Given the description of an element on the screen output the (x, y) to click on. 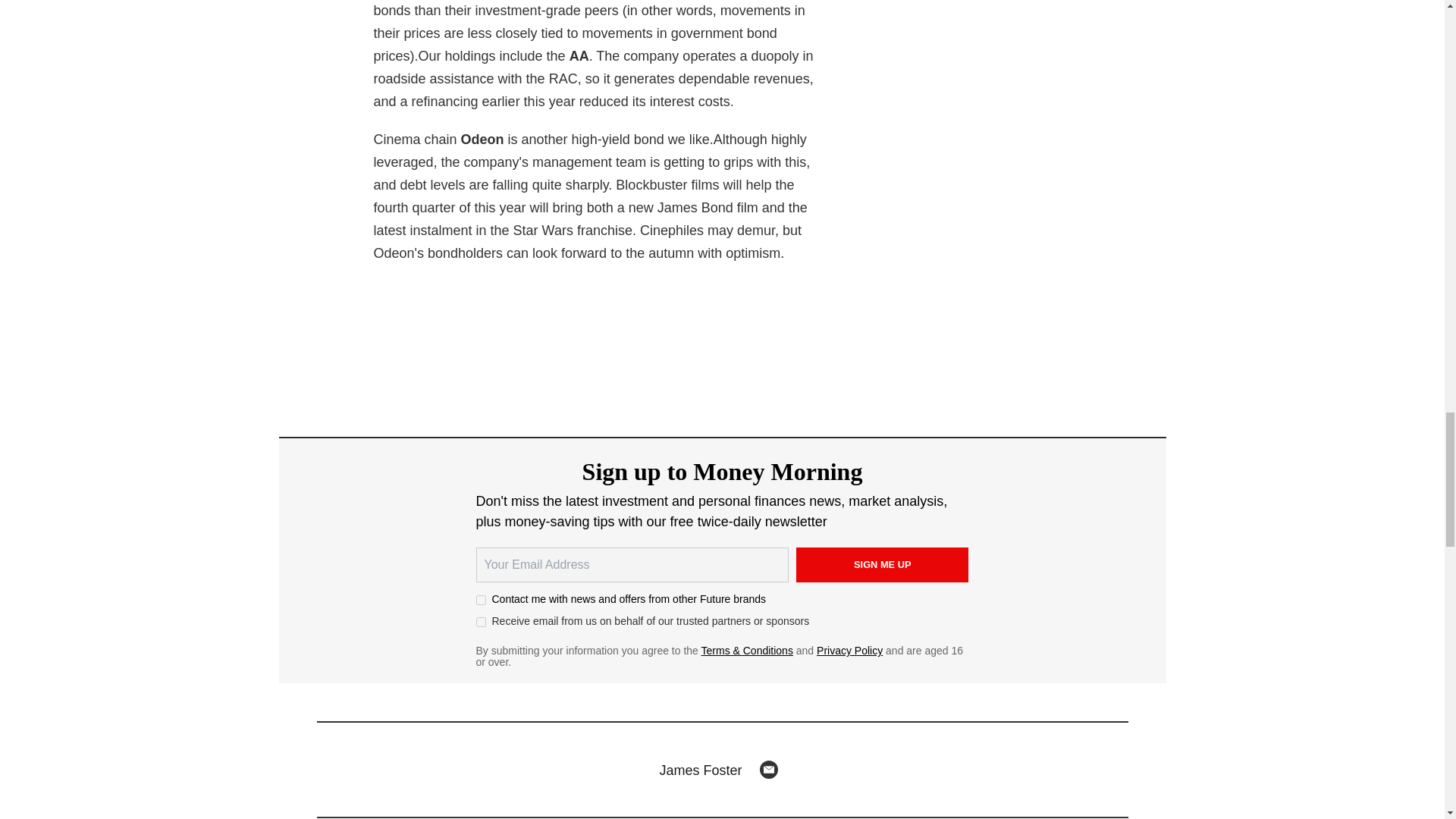
on (481, 600)
on (481, 622)
Sign me up (882, 564)
